Given the description of an element on the screen output the (x, y) to click on. 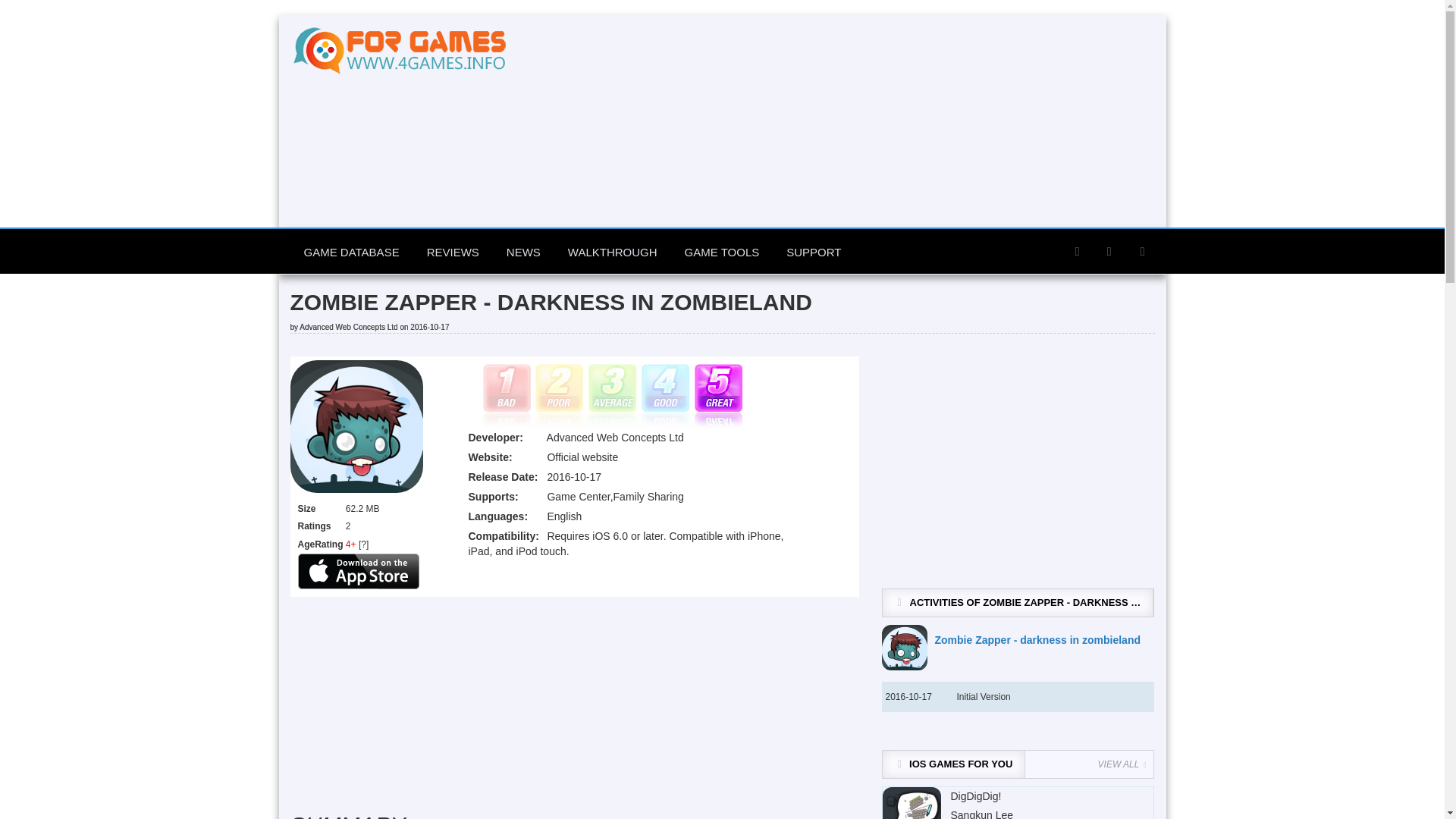
WHAT ARE THE RATINGS? (363, 543)
Available on the AppStore (358, 570)
Official website (582, 457)
Download on the AppStore (358, 570)
Ratings: 5 (611, 395)
Advertisement (574, 703)
GAME DATABASE (350, 251)
